Given the description of an element on the screen output the (x, y) to click on. 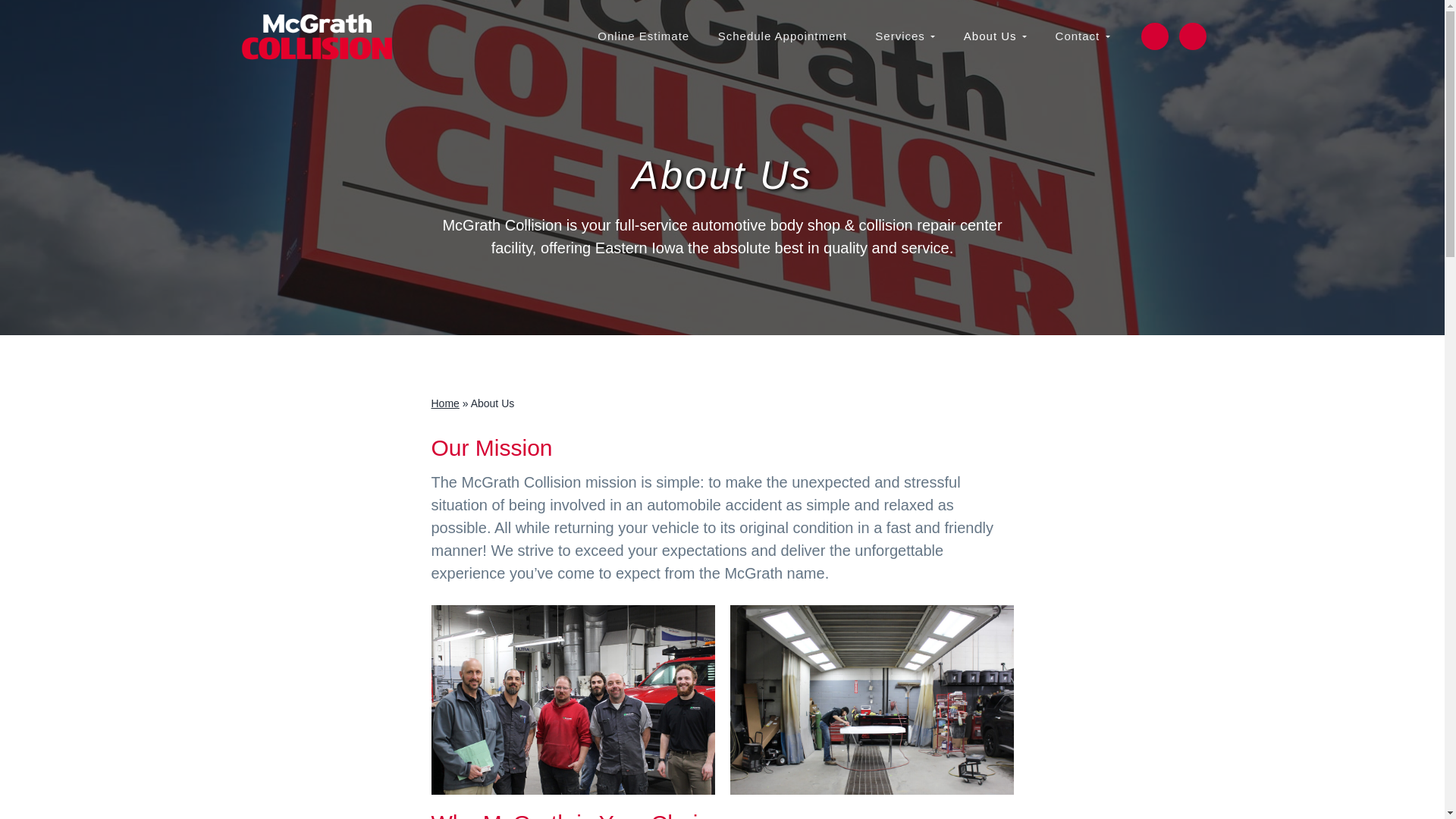
Schedule Appointment (782, 35)
Home (444, 403)
Online Estimate (643, 35)
Contact (1082, 35)
About Us (995, 35)
Services (905, 35)
McGrath Collision (286, 69)
